Given the description of an element on the screen output the (x, y) to click on. 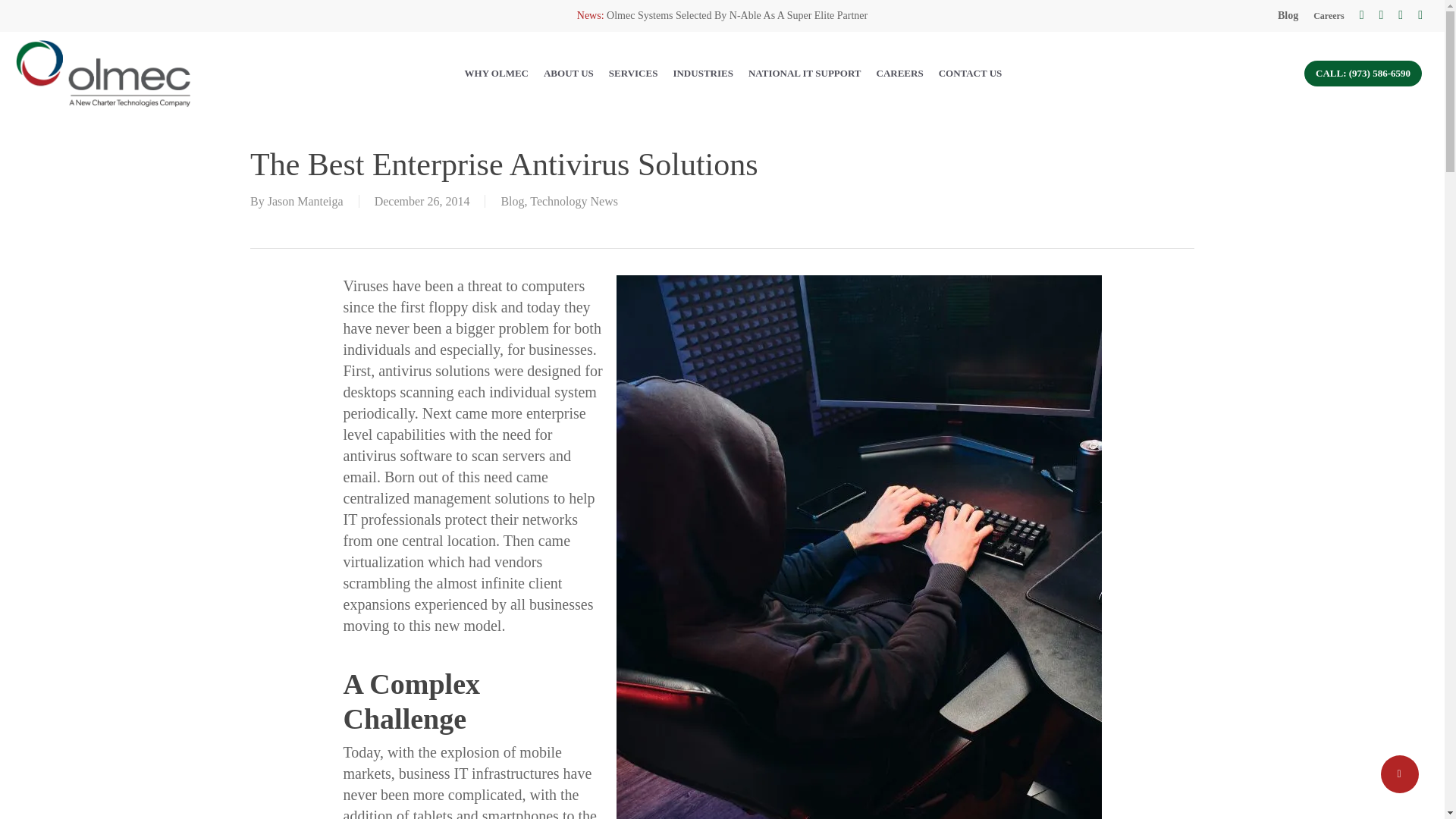
Careers (1328, 15)
ABOUT US (568, 73)
WHY OLMEC (496, 73)
Posts by Jason Manteiga (305, 201)
SERVICES (633, 73)
Blog (1288, 15)
INDUSTRIES (702, 73)
NATIONAL IT SUPPORT (804, 73)
